Given the description of an element on the screen output the (x, y) to click on. 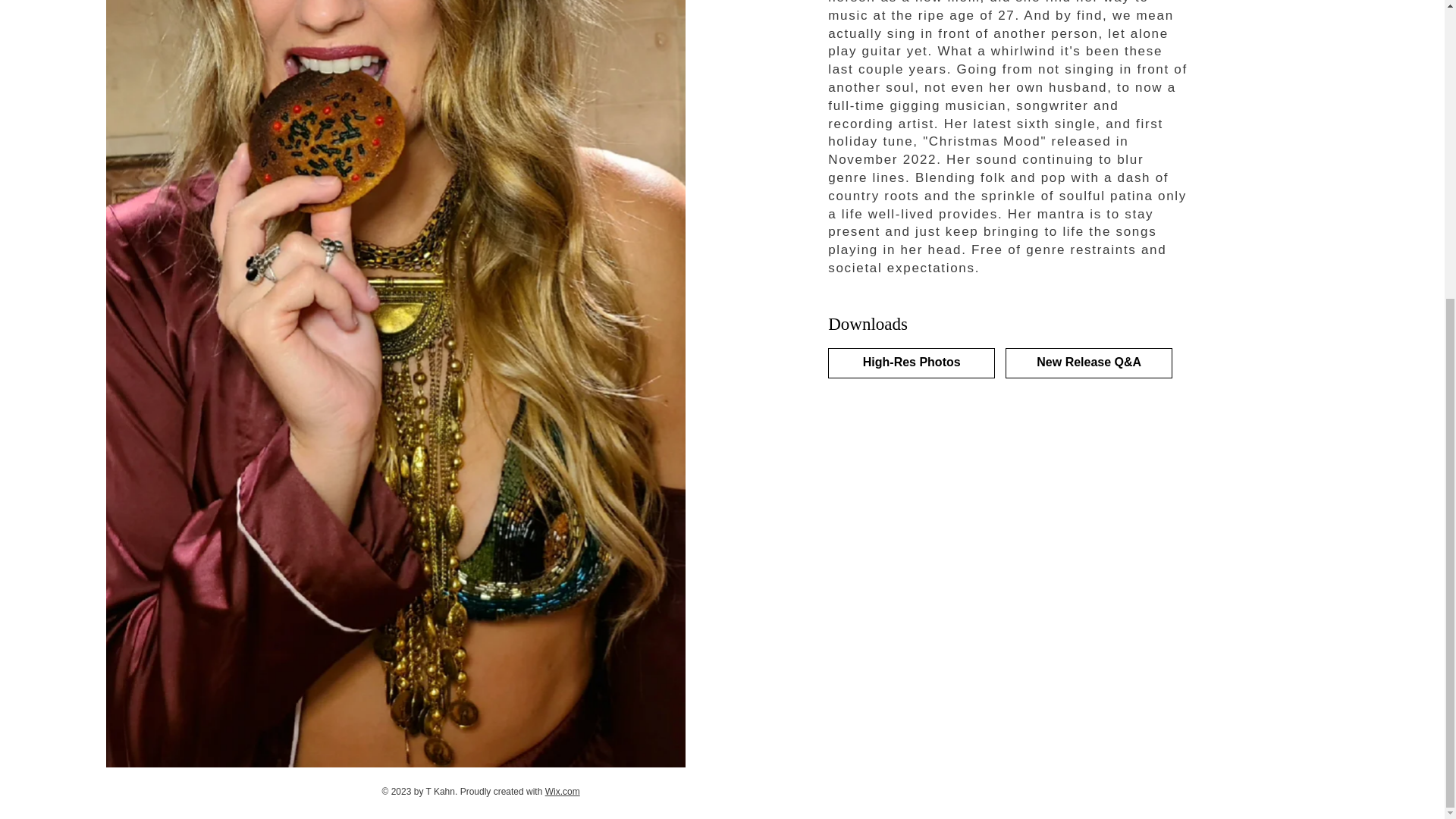
Wix.com (561, 791)
High-Res Photos (911, 363)
